Given the description of an element on the screen output the (x, y) to click on. 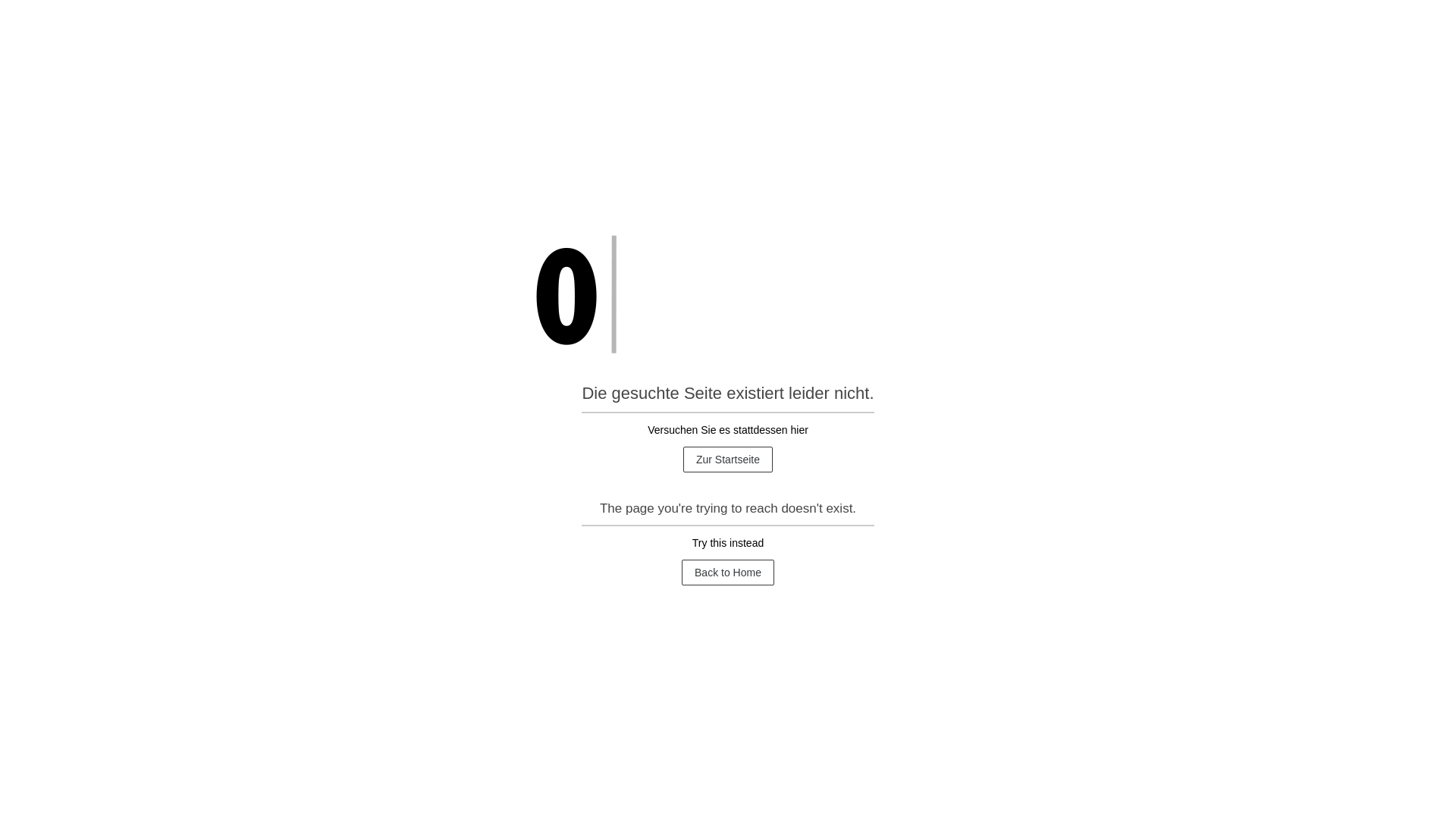
Zur Startseite Element type: text (727, 459)
Back to Home Element type: text (727, 572)
